Given the description of an element on the screen output the (x, y) to click on. 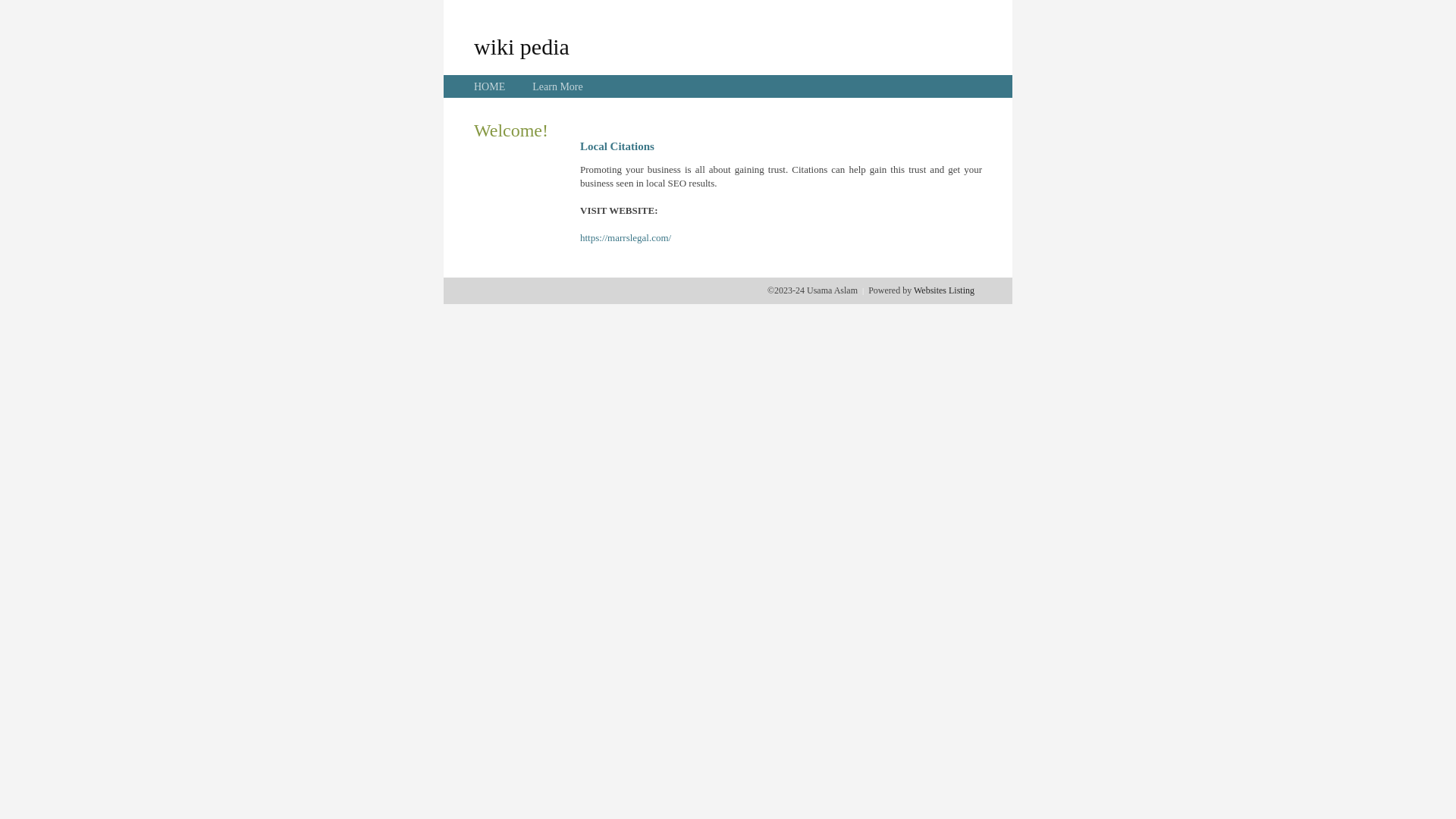
Learn More Element type: text (557, 86)
Websites Listing Element type: text (943, 290)
HOME Element type: text (489, 86)
https://marrslegal.com/ Element type: text (625, 237)
wiki pedia Element type: text (521, 46)
